Given the description of an element on the screen output the (x, y) to click on. 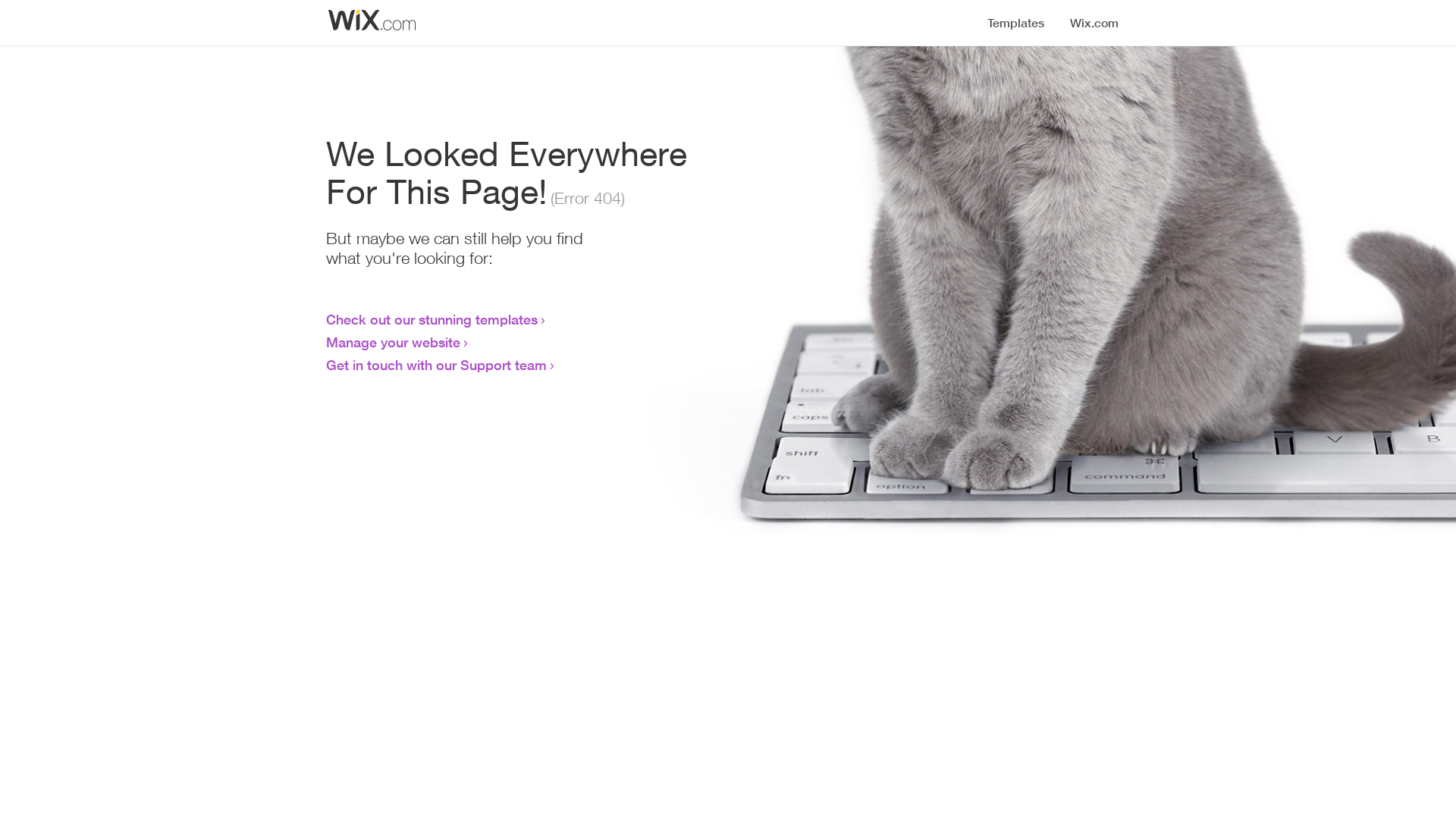
Get in touch with our Support team Element type: text (436, 364)
Manage your website Element type: text (393, 341)
Check out our stunning templates Element type: text (431, 318)
